Given the description of an element on the screen output the (x, y) to click on. 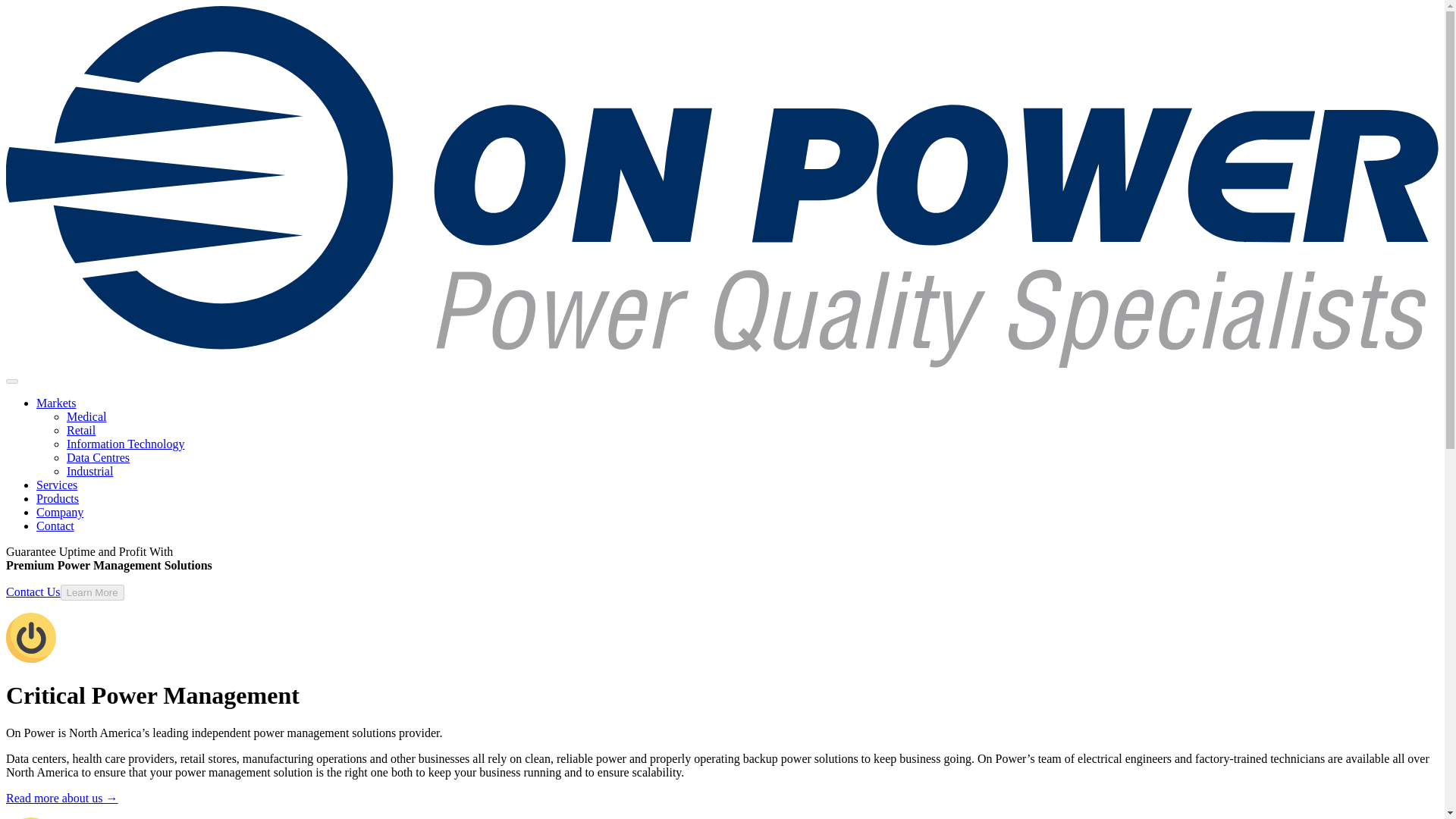
Contact (55, 525)
Contact Us (33, 591)
Medical (86, 416)
Services (56, 484)
Industrial (89, 471)
Retail (81, 430)
Products (57, 498)
Company (59, 512)
Markets (55, 402)
Information Technology (125, 443)
Learn More (92, 592)
Data Centres (97, 457)
